Given the description of an element on the screen output the (x, y) to click on. 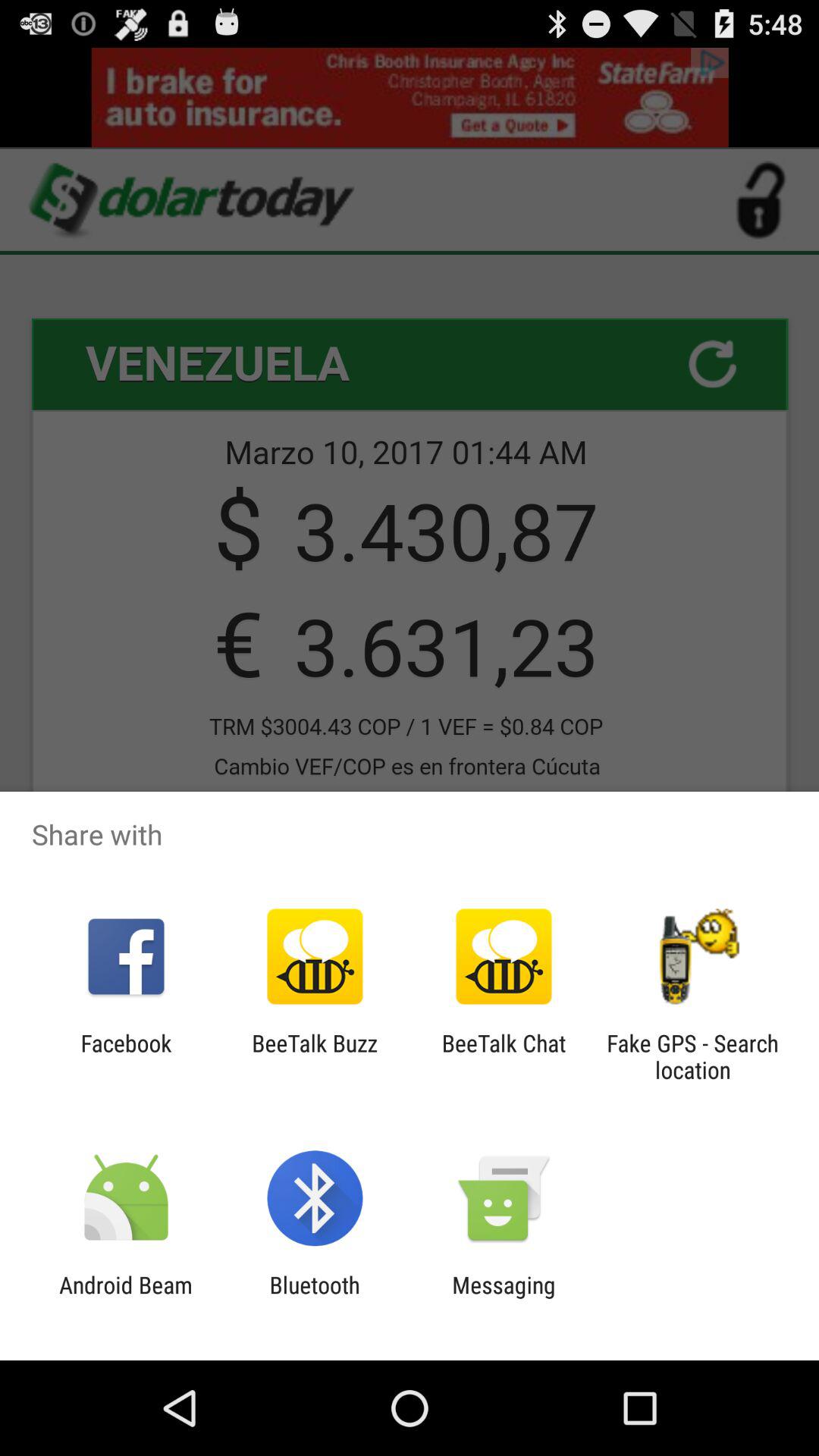
press item to the left of messaging app (314, 1298)
